Given the description of an element on the screen output the (x, y) to click on. 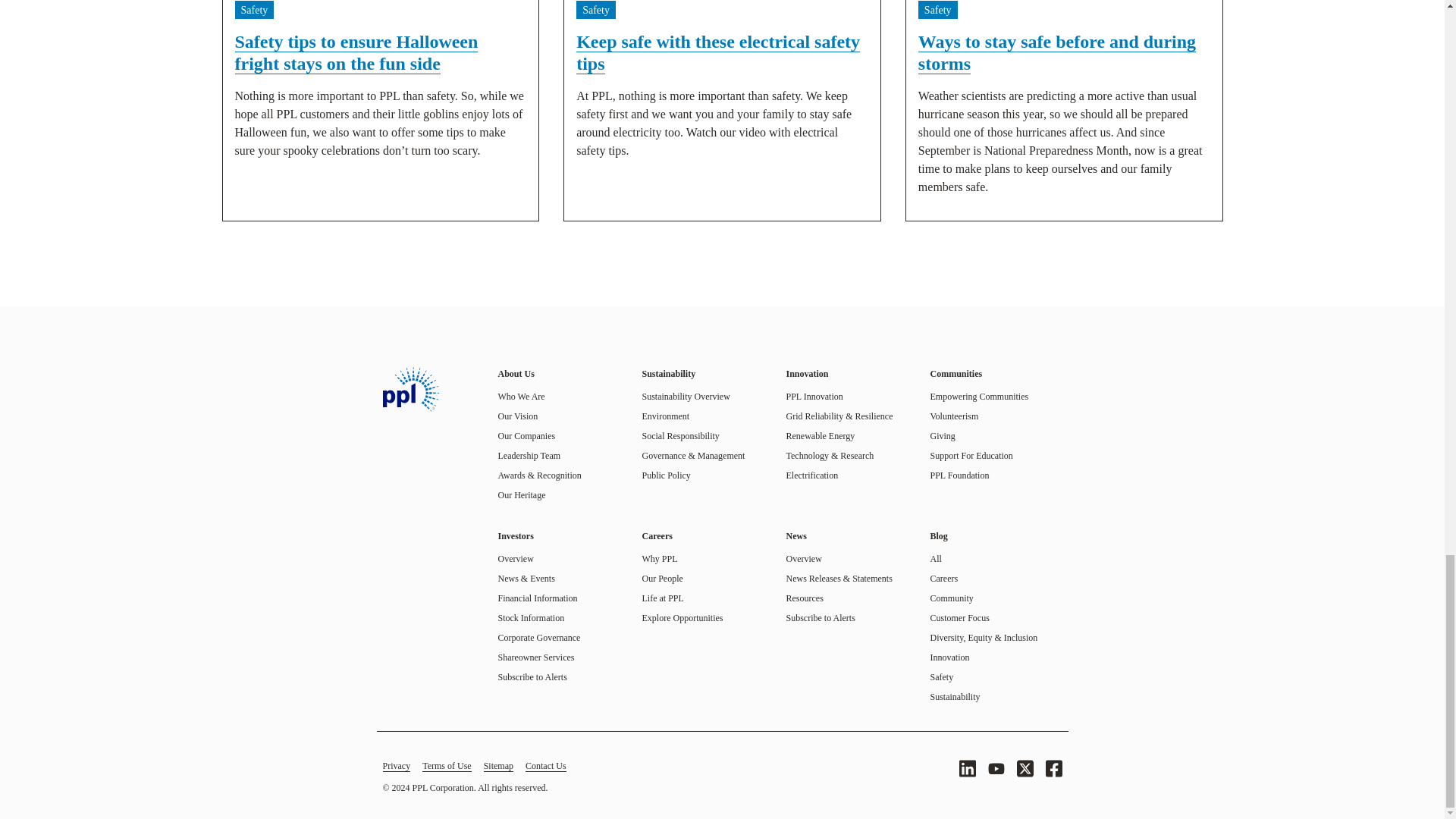
PPL Logo (409, 388)
